Given the description of an element on the screen output the (x, y) to click on. 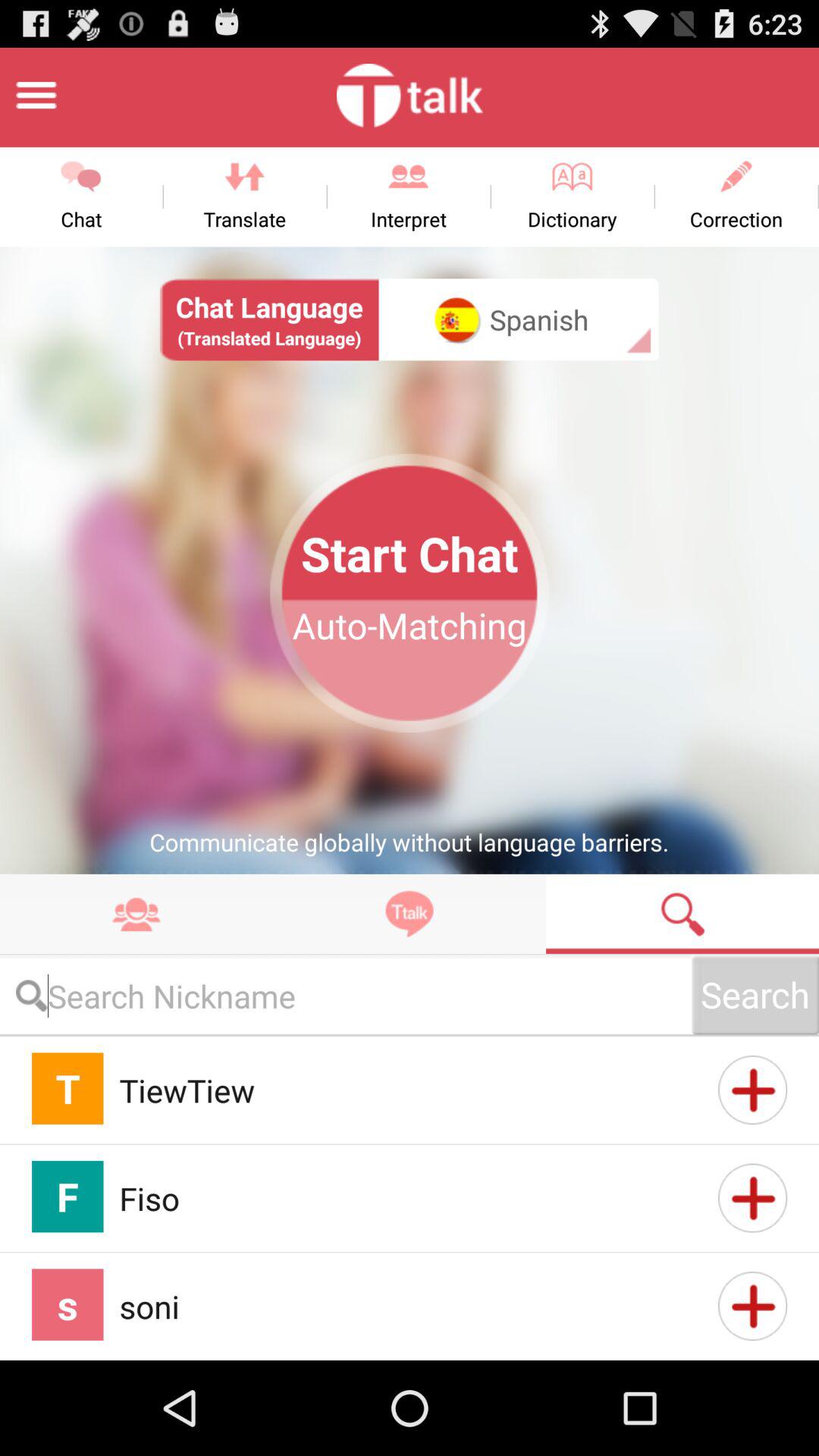
takes you to contacts (136, 913)
